Given the description of an element on the screen output the (x, y) to click on. 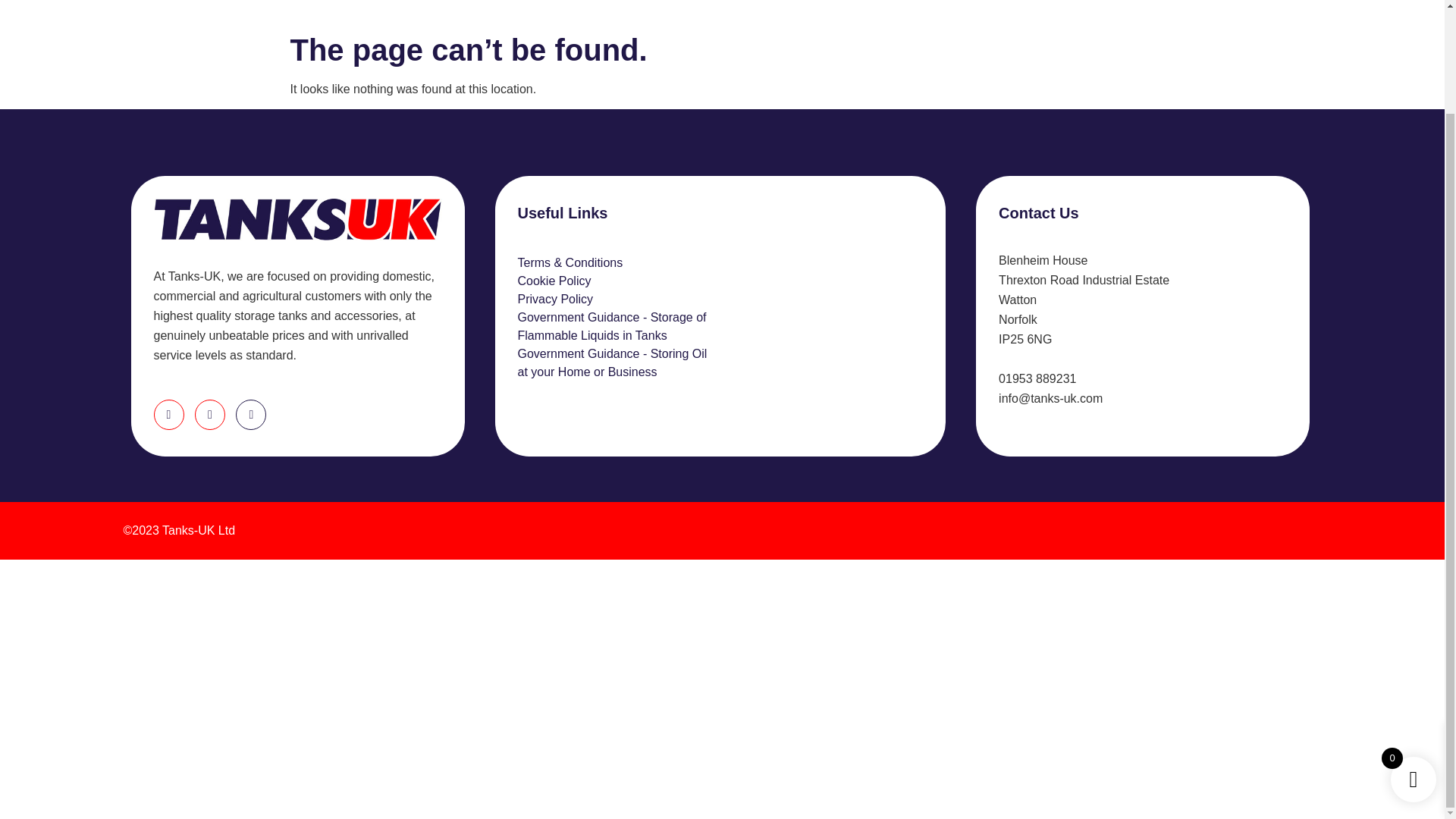
FUEL DISPENSING (387, 5)
WATER (189, 5)
FUEL STORAGE (276, 5)
